Given the description of an element on the screen output the (x, y) to click on. 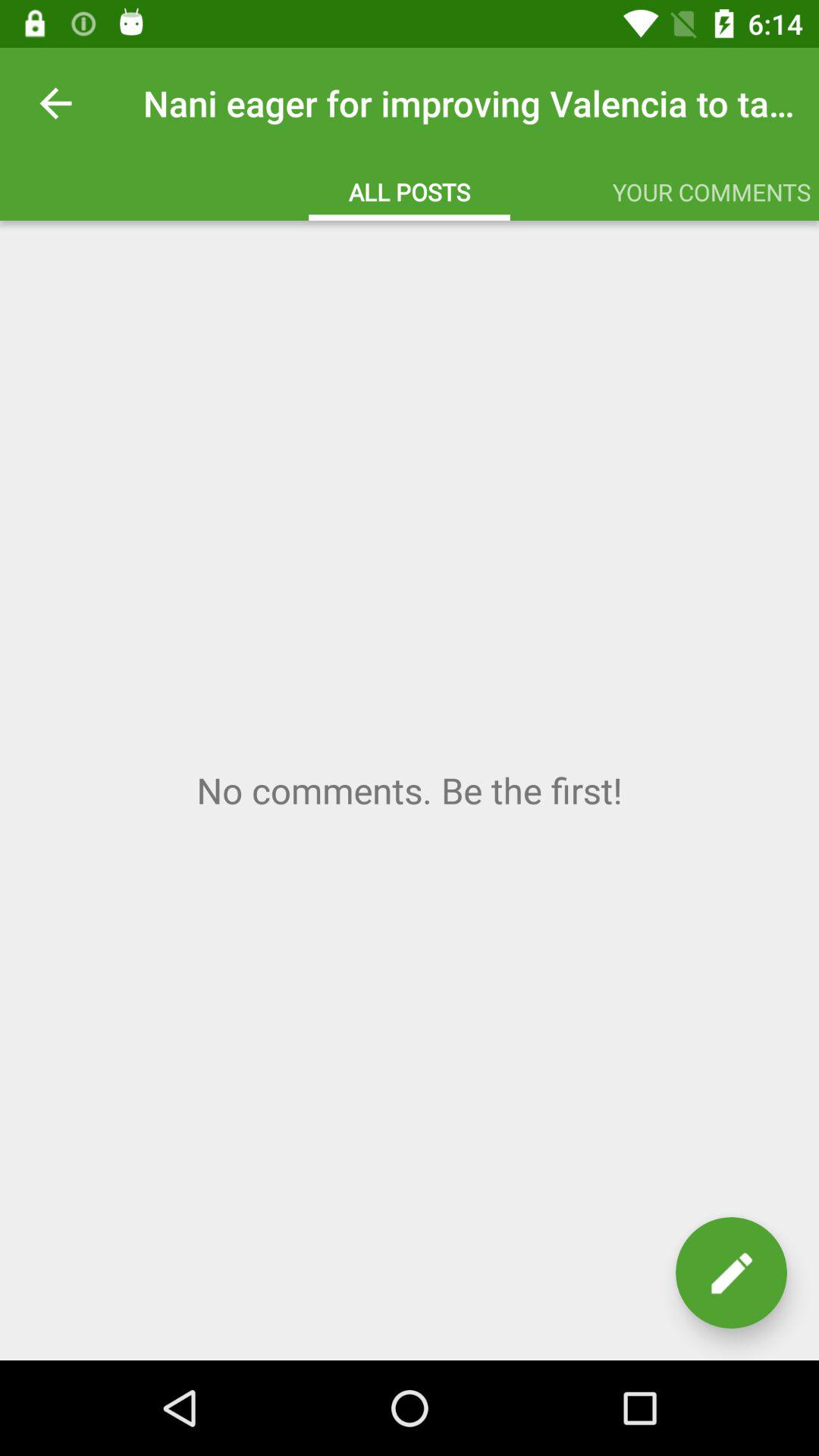
edit (731, 1272)
